Given the description of an element on the screen output the (x, y) to click on. 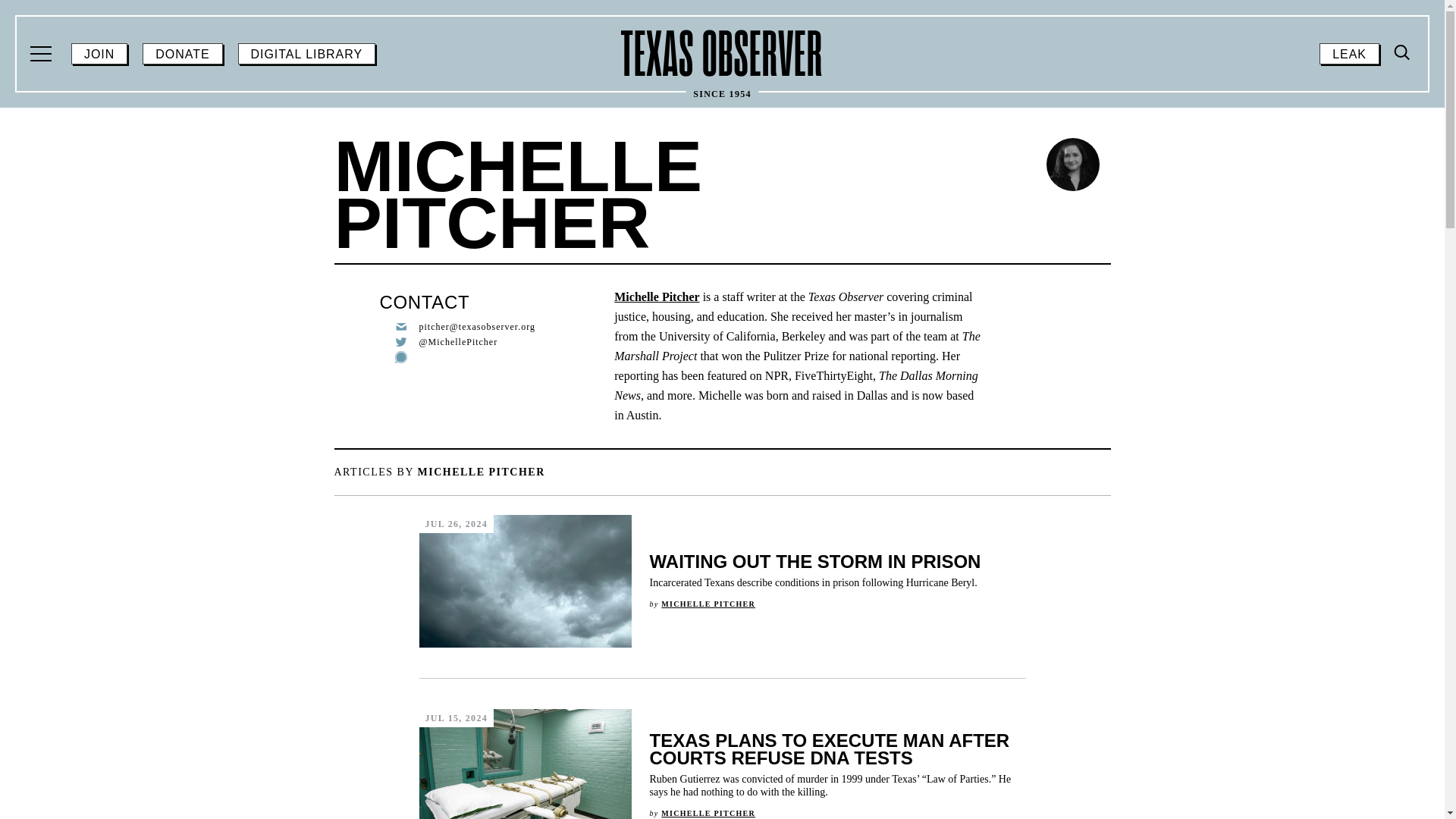
Post by Michelle Pitcher (1402, 53)
Toggle Menu (708, 603)
SEARCH (42, 53)
DIGITAL LIBRARY (1400, 179)
The Texas Observer (306, 53)
Search icon (721, 53)
DONATE (1402, 51)
JOIN (182, 53)
Post by Michelle Pitcher (99, 53)
LEAK (708, 813)
